Given the description of an element on the screen output the (x, y) to click on. 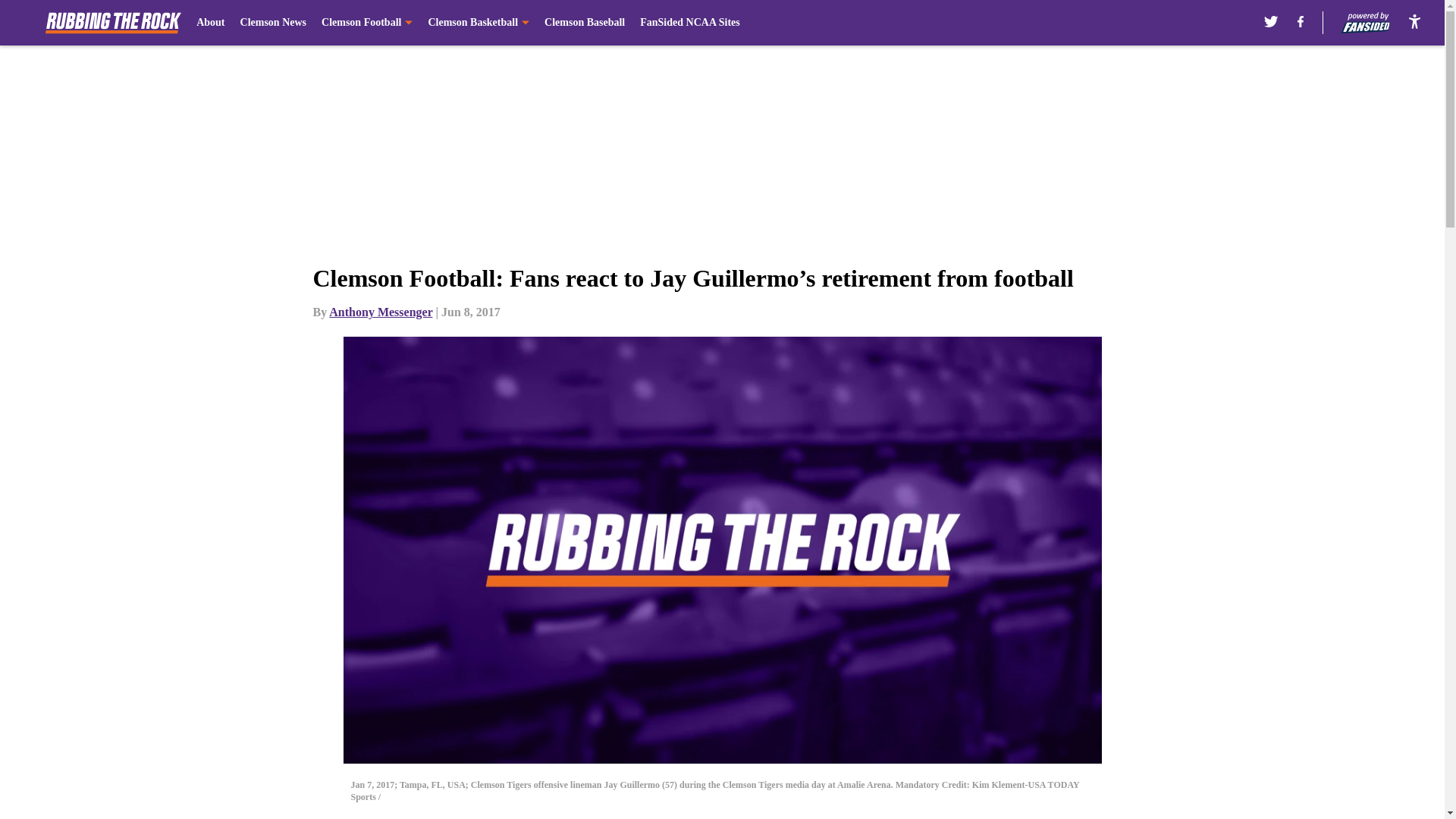
FanSided NCAA Sites (689, 22)
Clemson Baseball (584, 22)
About (210, 22)
Clemson News (273, 22)
Anthony Messenger (380, 311)
